Given the description of an element on the screen output the (x, y) to click on. 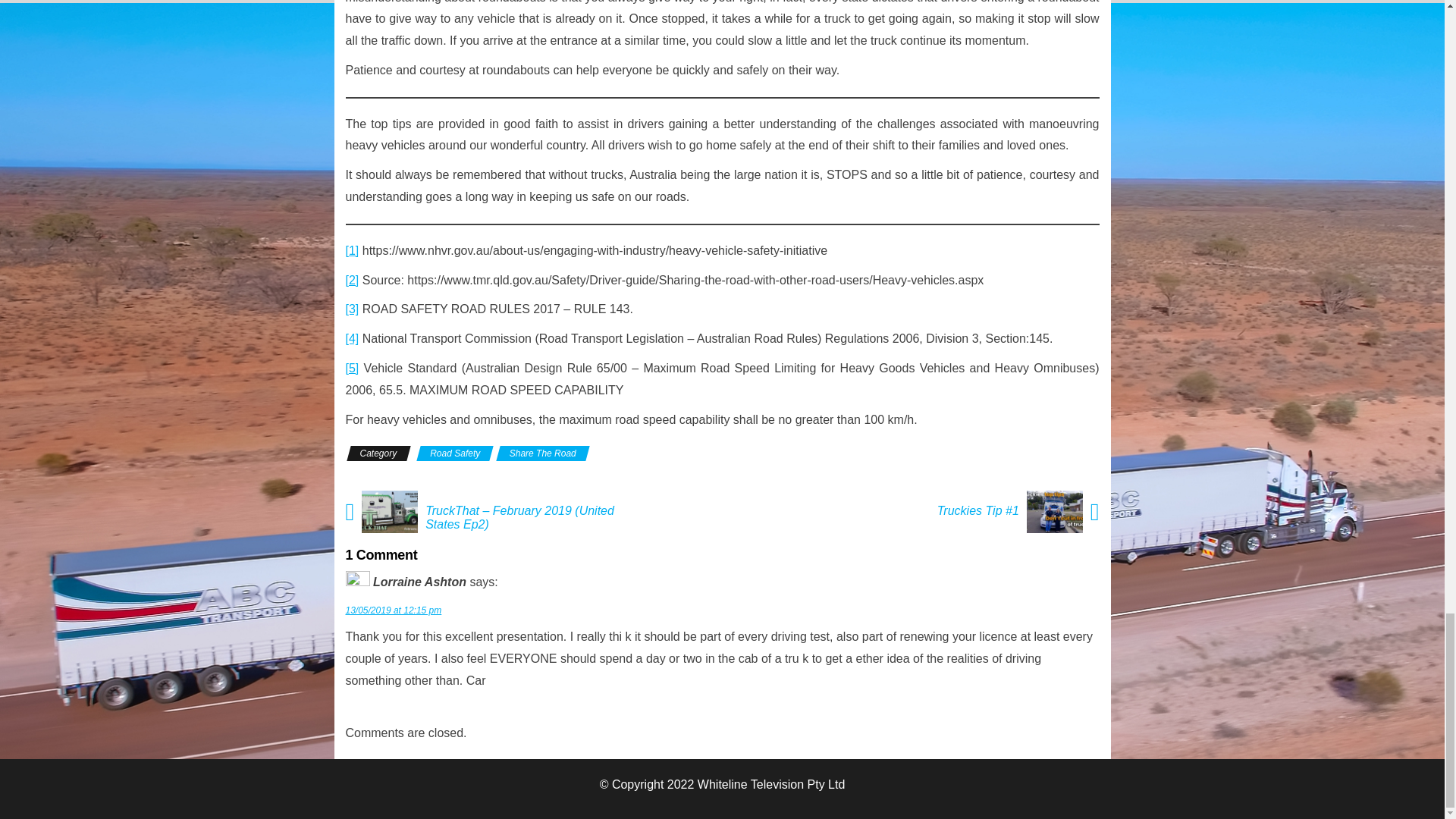
Share The Road (542, 453)
Road Safety (455, 453)
